Given the description of an element on the screen output the (x, y) to click on. 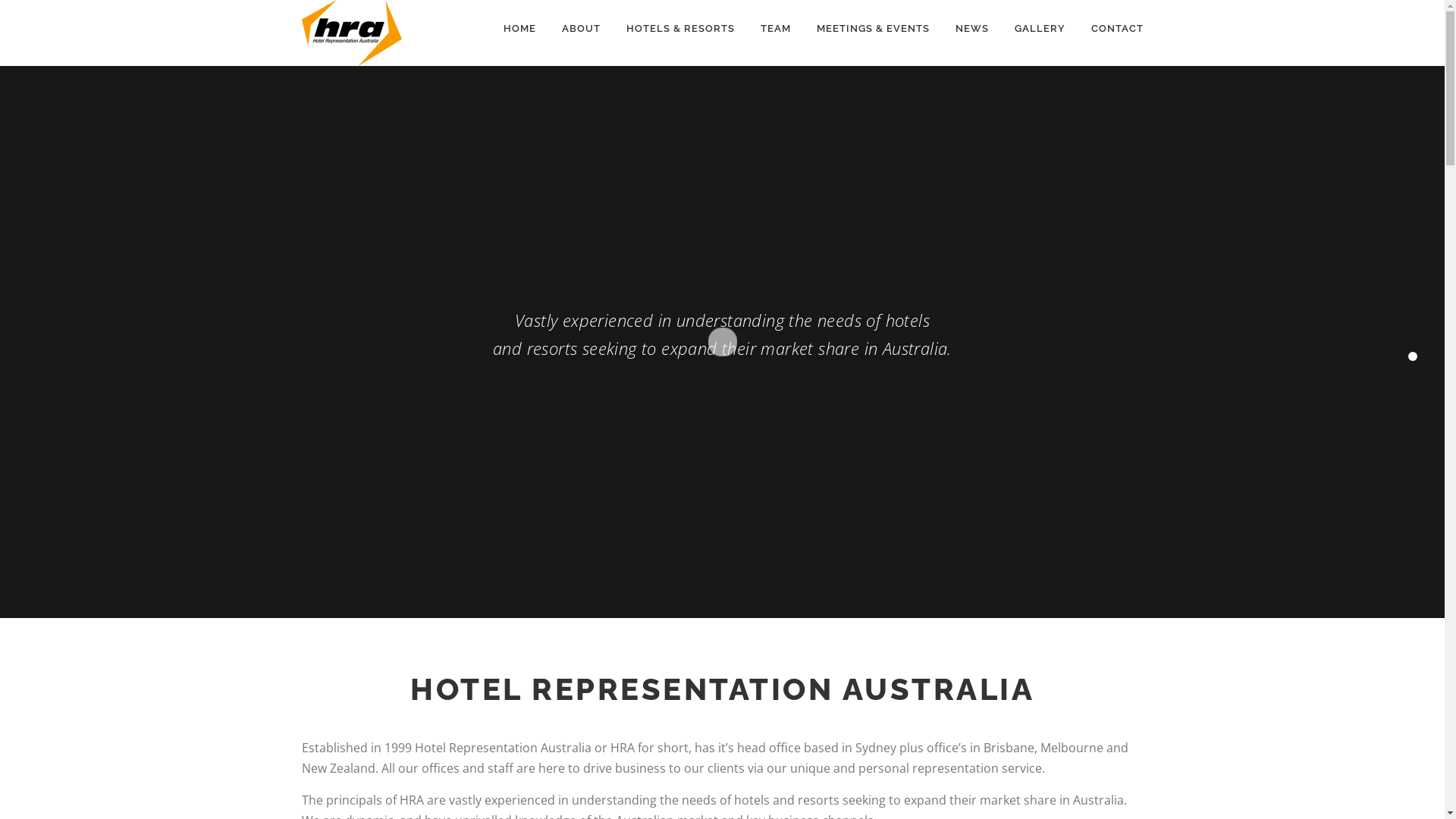
ABOUT Element type: text (581, 28)
MEETINGS & EVENTS Element type: text (872, 28)
TEAM Element type: text (775, 28)
CONTACT Element type: text (1110, 28)
HOME Element type: text (518, 28)
NEWS Element type: text (971, 28)
GALLERY Element type: text (1039, 28)
HOTELS & RESORTS Element type: text (679, 28)
